Given the description of an element on the screen output the (x, y) to click on. 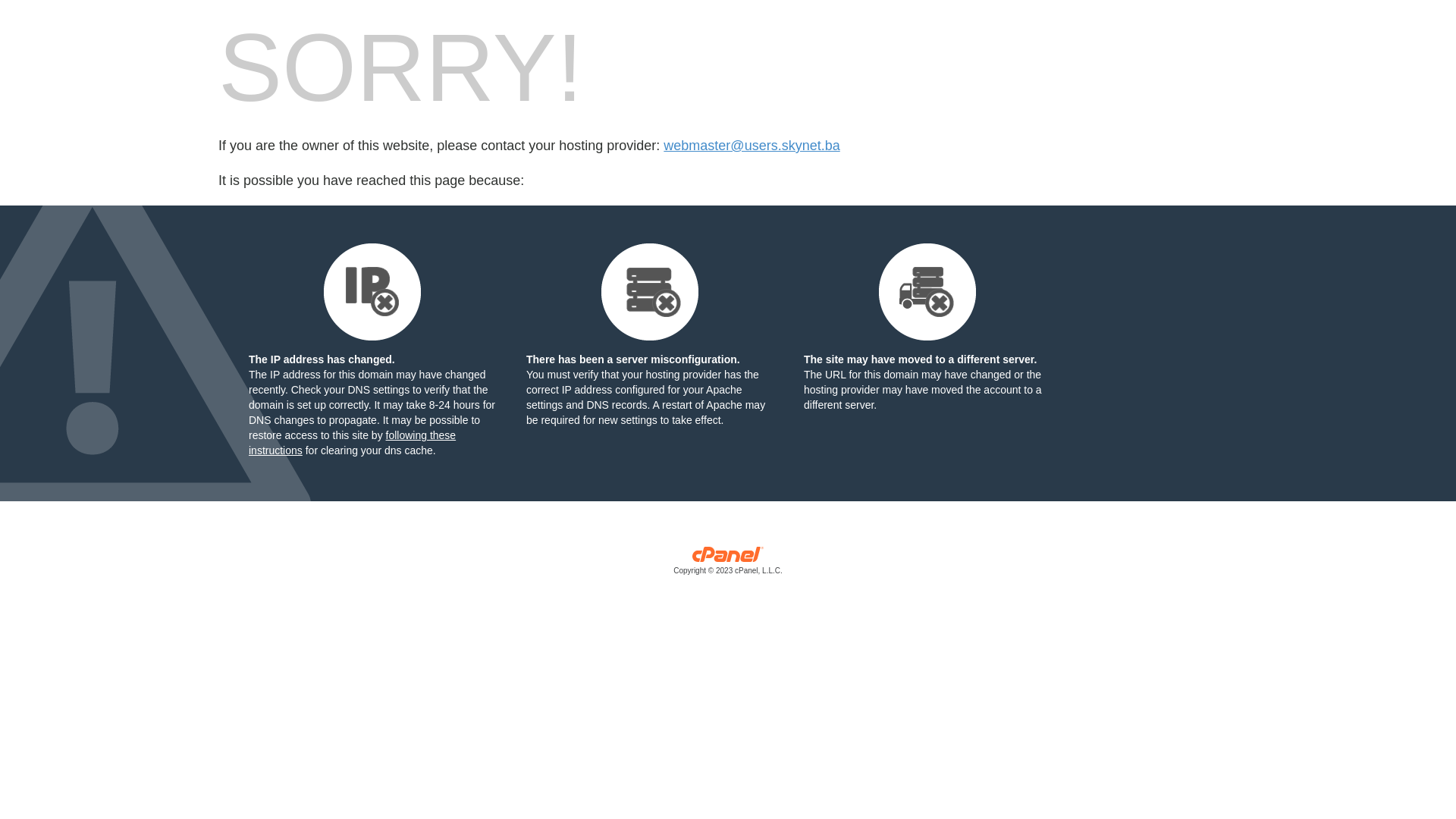
following these instructions Element type: text (351, 442)
webmaster@users.skynet.ba Element type: text (751, 145)
